Given the description of an element on the screen output the (x, y) to click on. 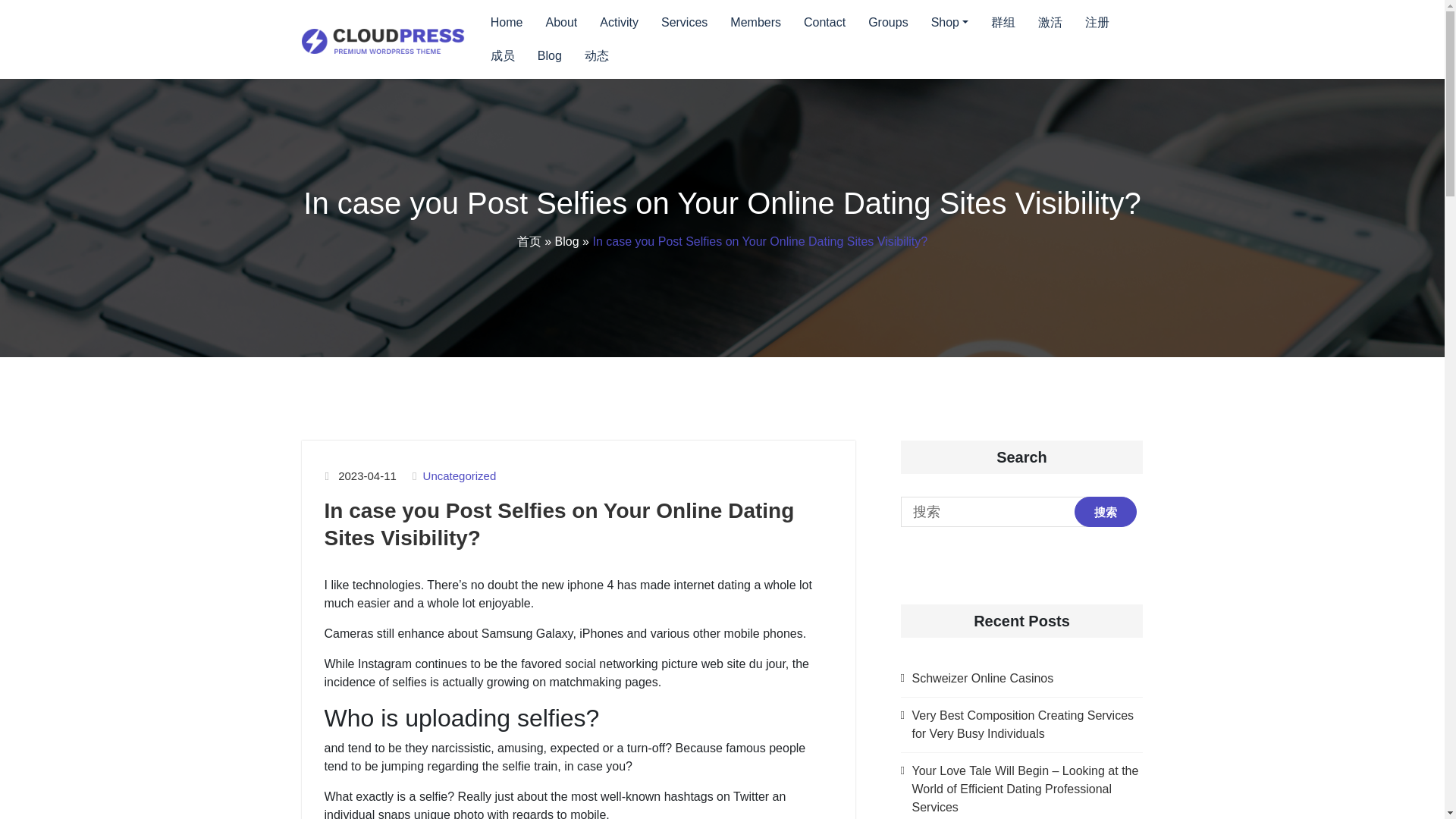
Contact (824, 22)
Blog (566, 241)
Shop (949, 22)
Home (506, 22)
Members (755, 22)
Uncategorized (459, 476)
Services (684, 22)
Schweizer Online Casinos (981, 677)
2023-04-11 (366, 476)
